Given the description of an element on the screen output the (x, y) to click on. 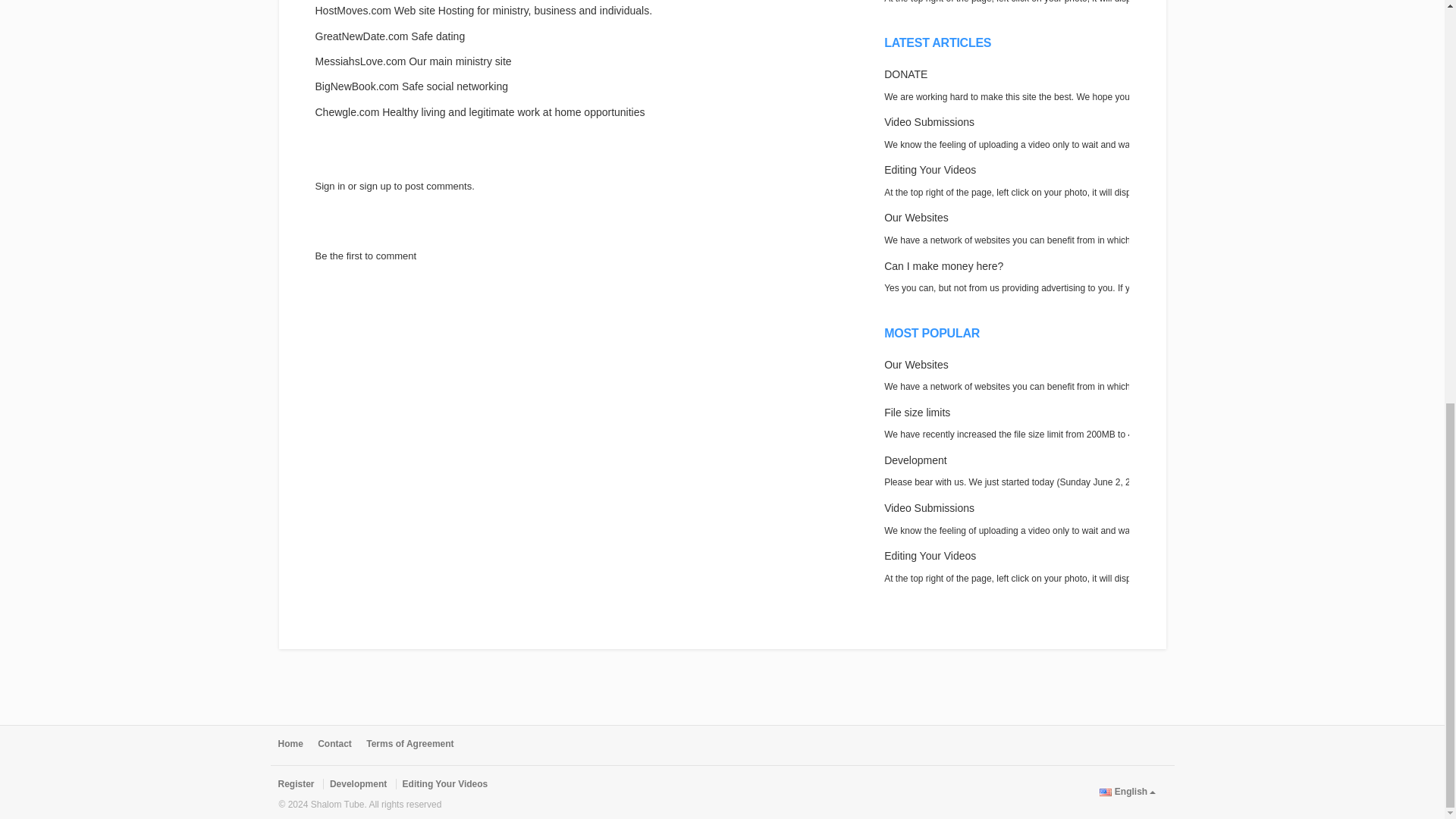
Video Submissions (928, 508)
Our Websites (916, 364)
Development (915, 460)
Our Websites (916, 217)
Video Submissions (928, 121)
English (1105, 792)
Editing Your Videos (929, 169)
Editing Your Videos (929, 555)
DONATE (905, 73)
File size limits (916, 412)
